Given the description of an element on the screen output the (x, y) to click on. 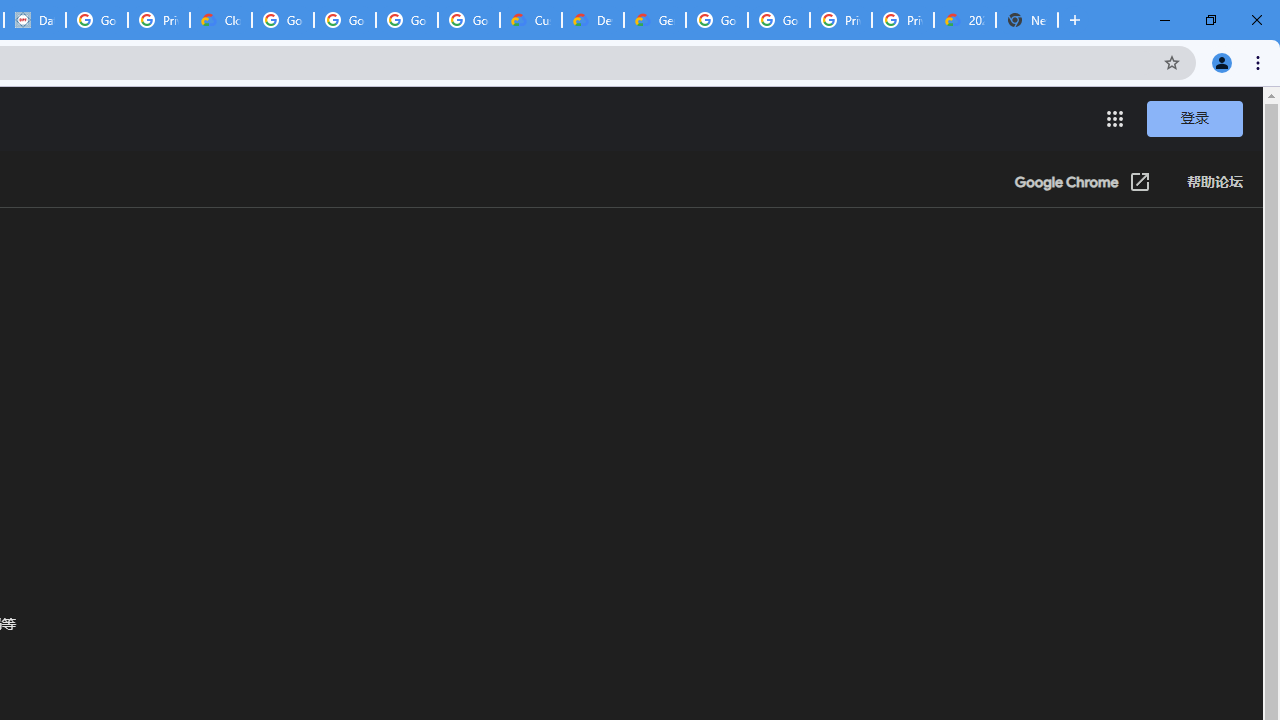
Google Cloud Platform (716, 20)
Cloud Data Processing Addendum | Google Cloud (220, 20)
Google Workspace - Specific Terms (406, 20)
